Given the description of an element on the screen output the (x, y) to click on. 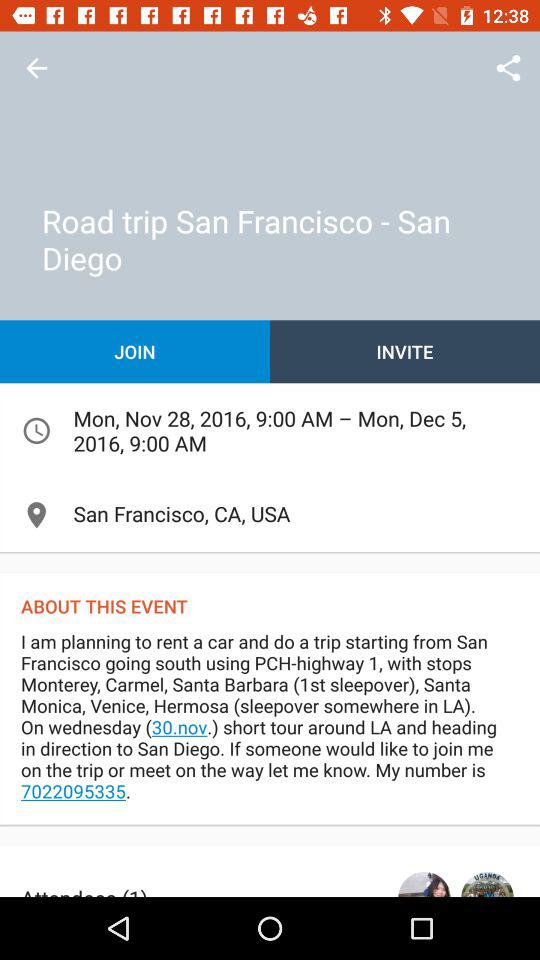
scroll to the join item (135, 351)
